Given the description of an element on the screen output the (x, y) to click on. 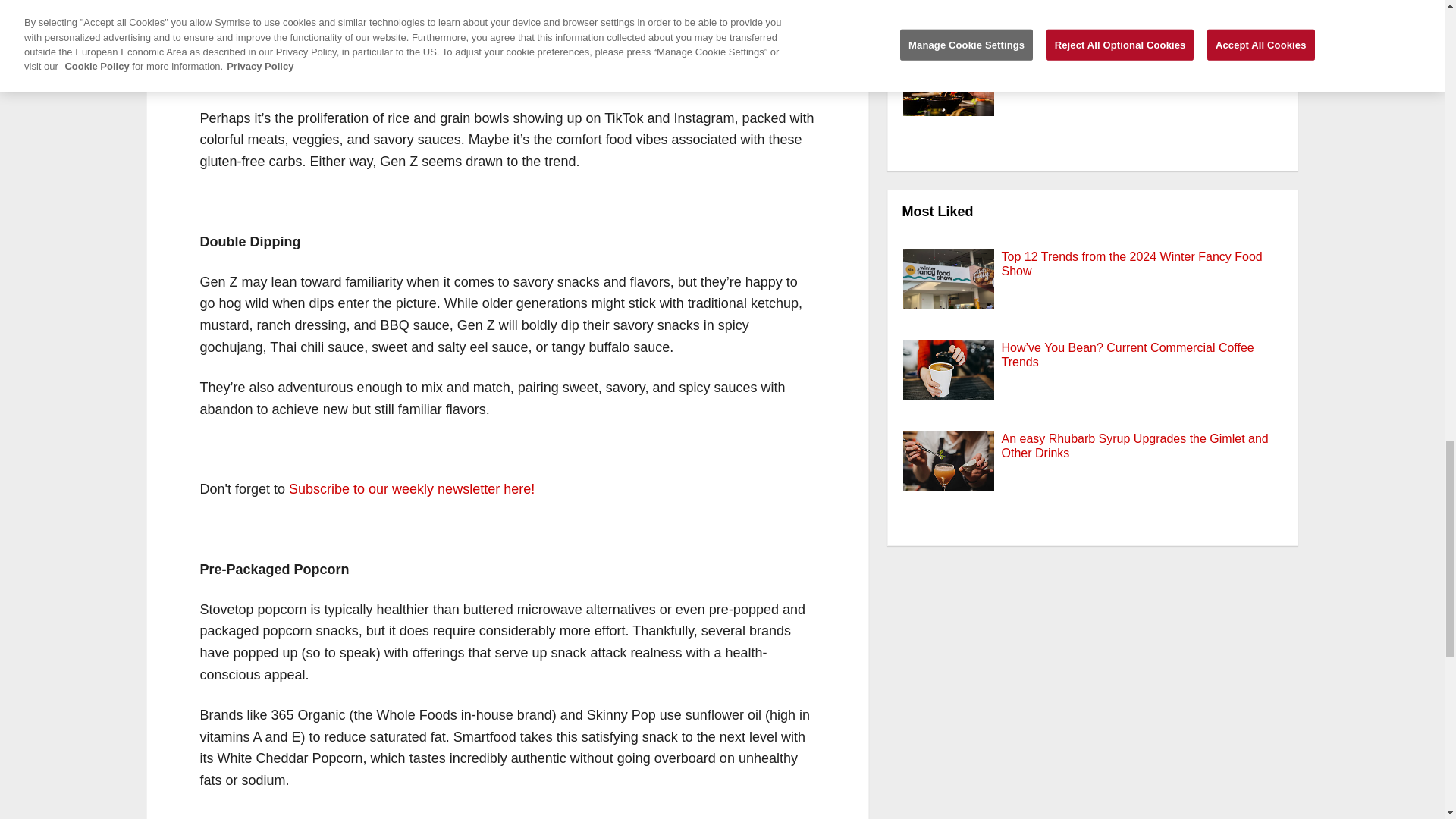
Top 12 Trends from the 2024 Winter Fancy Food Show (1131, 263)
Top 12 Trends from the 2024 Winter Fancy Food Show (1131, 263)
Fusion, Chaos, and New Ways of Crafting Cuisine (1136, 63)
Top 12 Trends from the 2024 Winter Fancy Food Show (948, 294)
Fusion, Chaos, and New Ways of Crafting Cuisine (1136, 63)
From Wings to Nuggets: A Look at Chicken Consumption Trends (948, 28)
Subscribe to our weekly newsletter here! (411, 488)
Fusion, Chaos, and New Ways of Crafting Cuisine (948, 102)
